Given the description of an element on the screen output the (x, y) to click on. 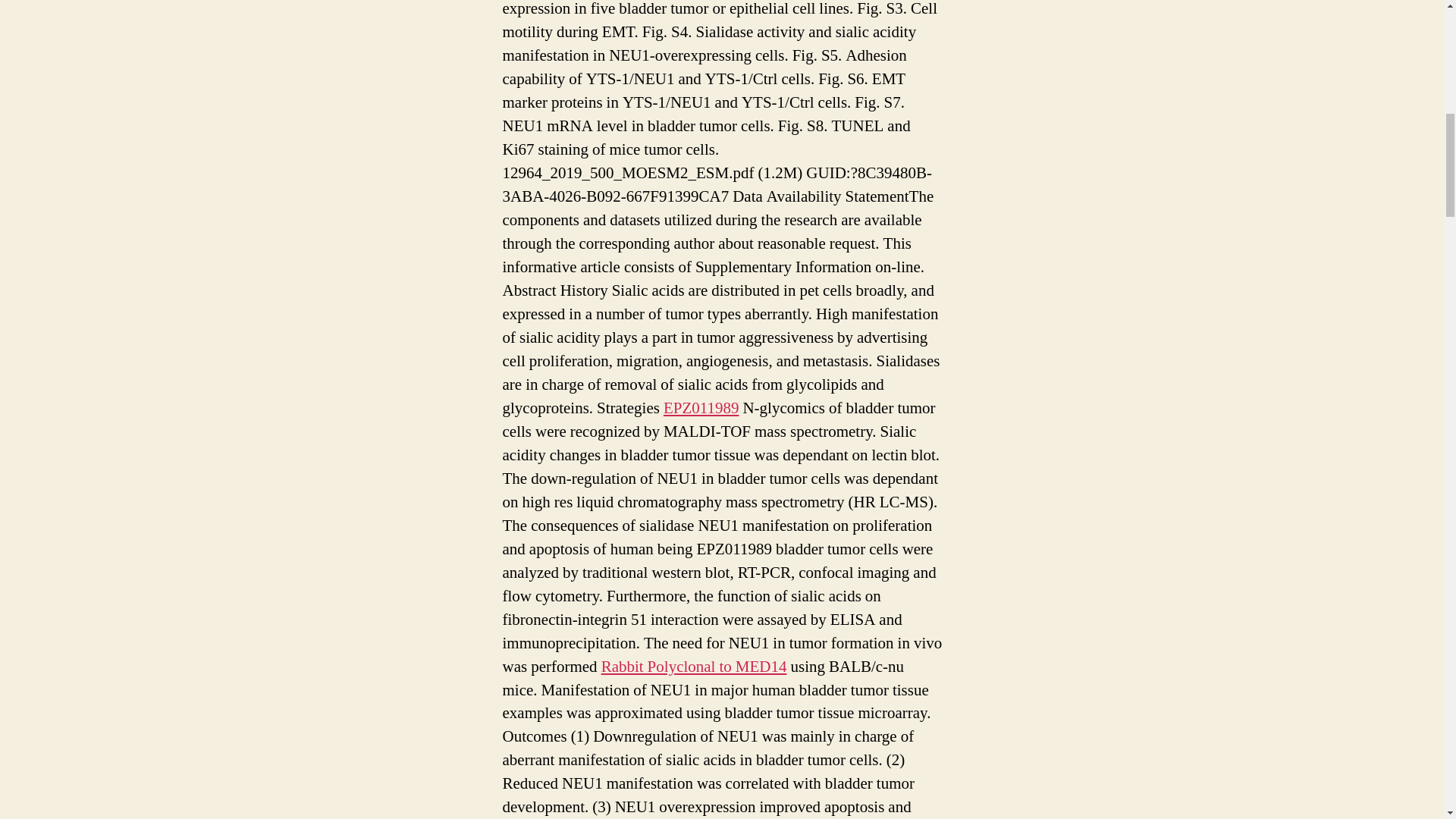
EPZ011989 (701, 408)
Rabbit Polyclonal to MED14 (694, 666)
